Given the description of an element on the screen output the (x, y) to click on. 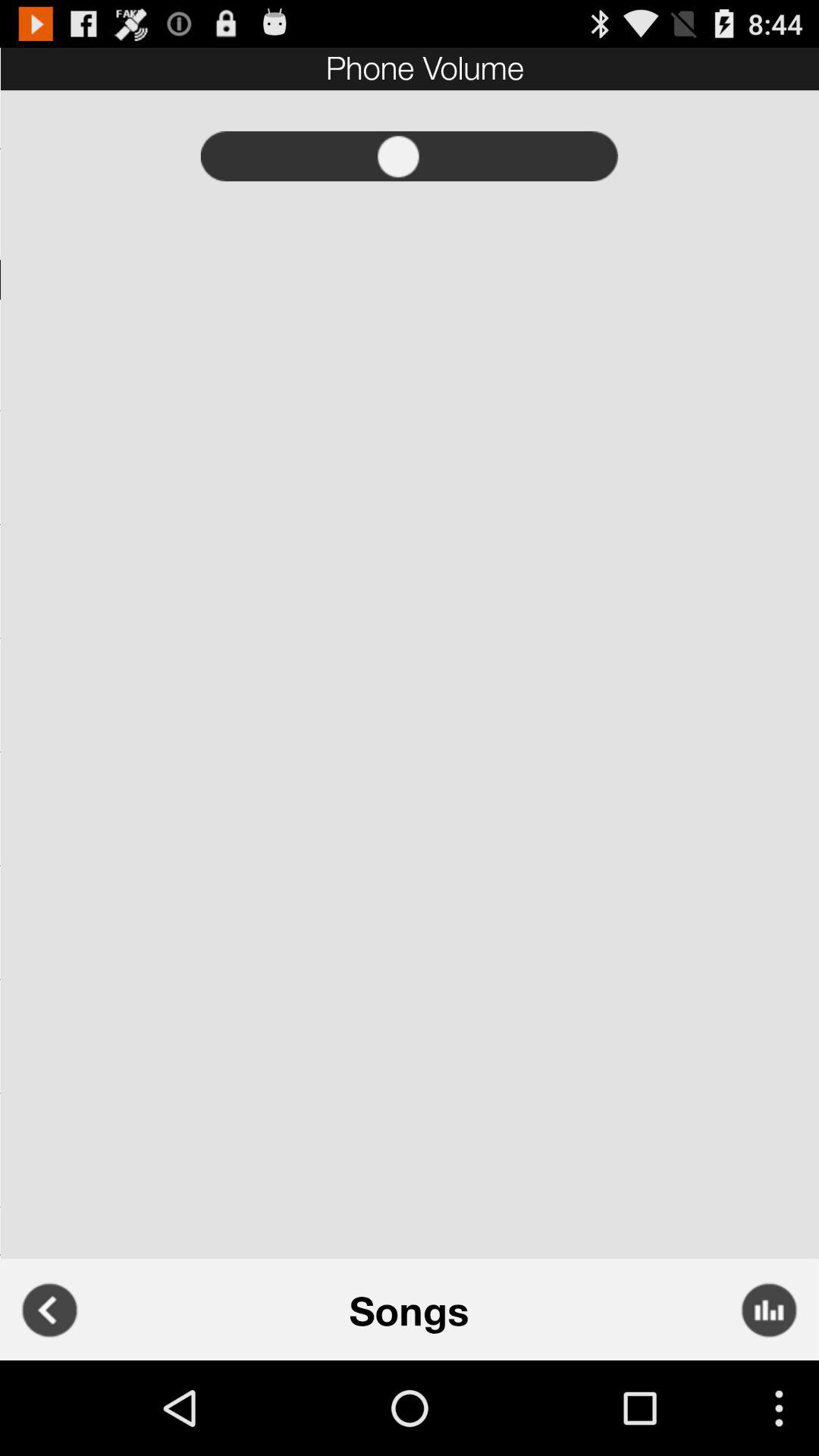
turn on app below phone volume app (409, 156)
